Given the description of an element on the screen output the (x, y) to click on. 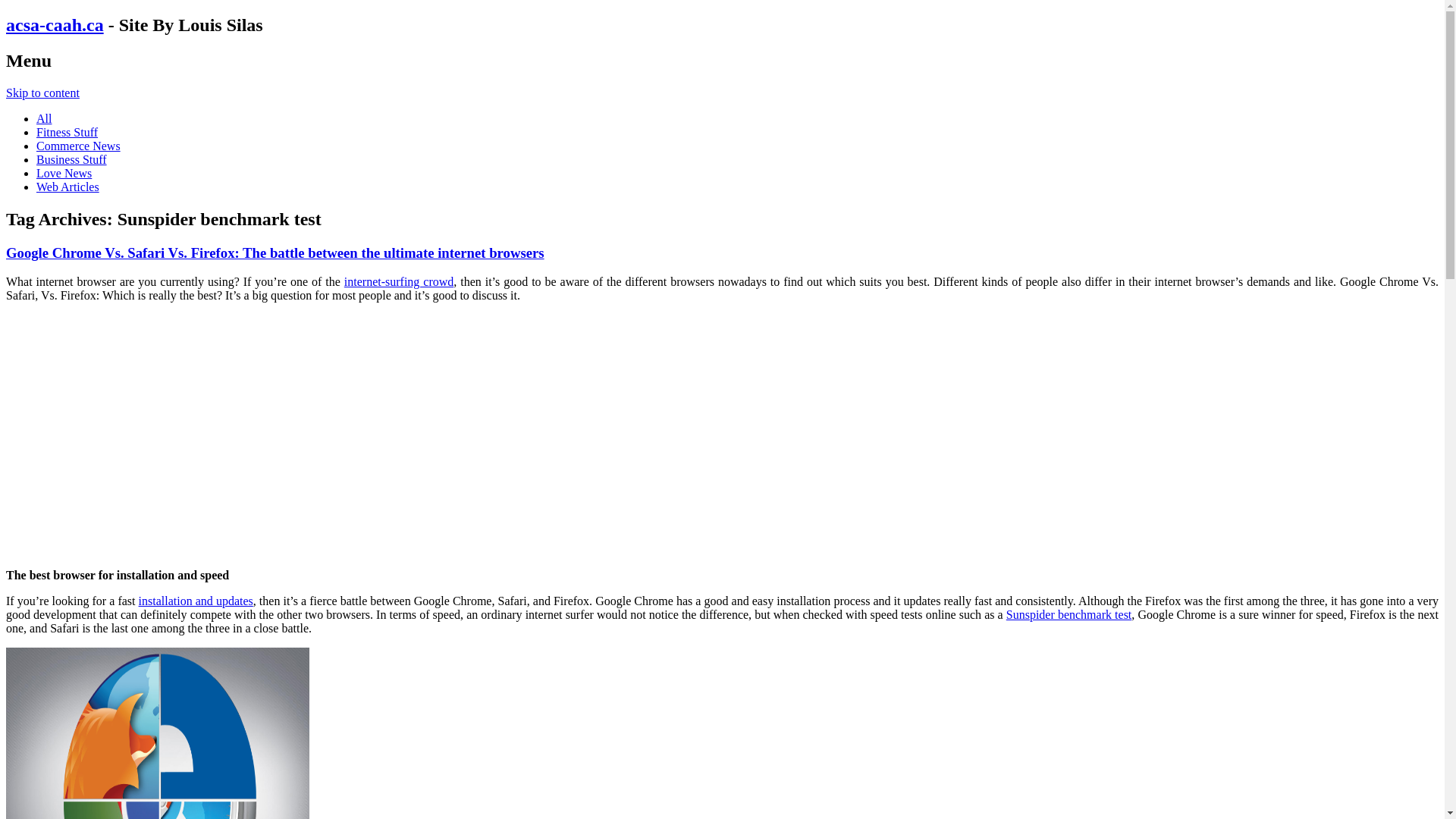
Sunspider benchmark test Element type: text (1069, 614)
installation and updates Element type: text (195, 600)
Business Stuff Element type: text (71, 159)
Love News Element type: text (63, 172)
Commerce News Element type: text (78, 145)
Web Articles Element type: text (67, 186)
Skip to content Element type: text (42, 92)
All Element type: text (43, 118)
acsa-caah.ca Element type: text (54, 24)
internet-surfing crowd Element type: text (398, 281)
Fitness Stuff Element type: text (66, 131)
